Given the description of an element on the screen output the (x, y) to click on. 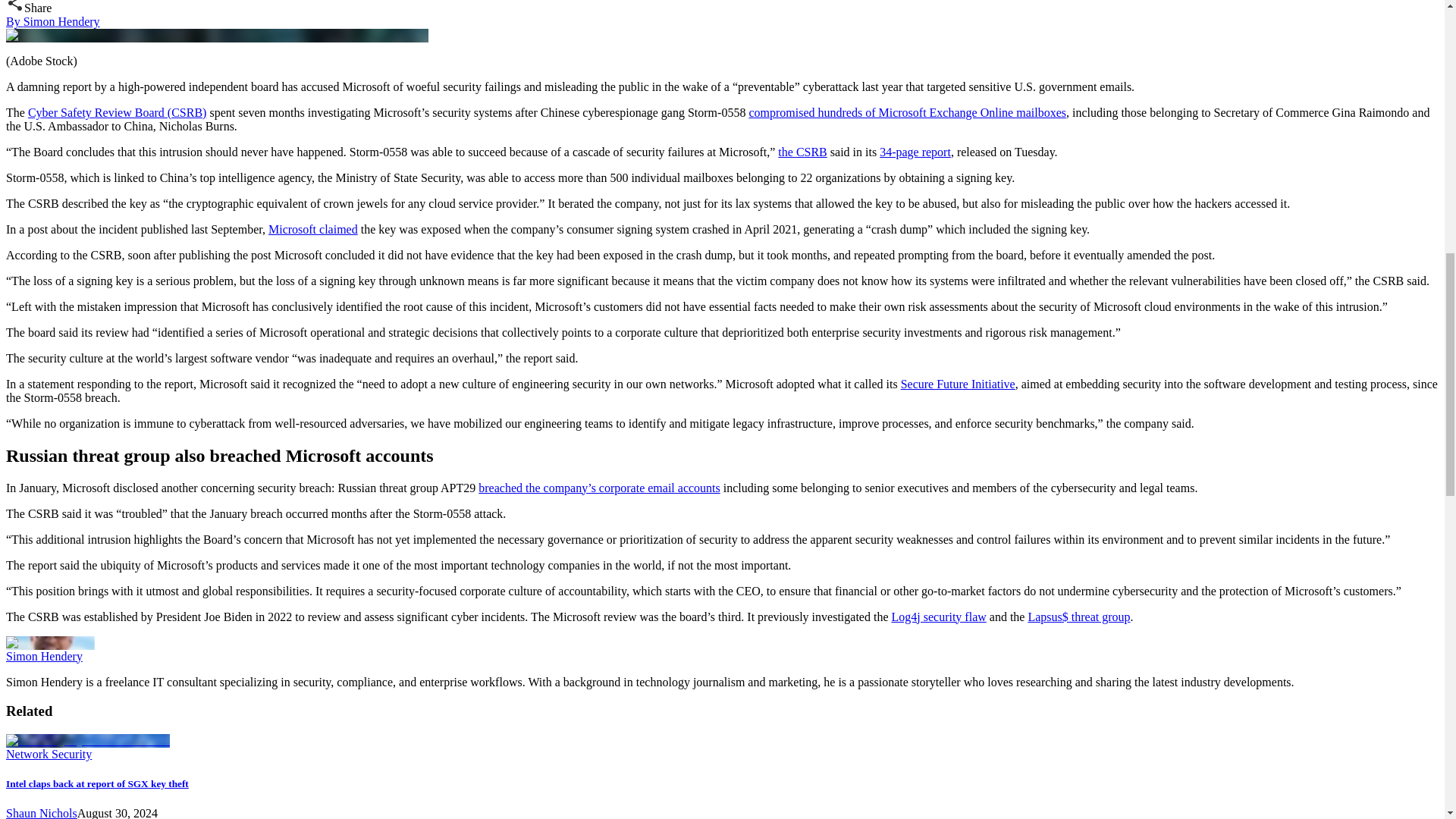
compromised hundreds of Microsoft Exchange Online mailboxes (906, 112)
By Simon Hendery (52, 21)
Simon Hendery (43, 656)
the CSRB (802, 151)
Shaun Nichols (41, 812)
Microsoft claimed (312, 228)
Network Security (48, 753)
34-page report (914, 151)
Log4j security flaw (938, 616)
Secure Future Initiative (957, 383)
